Given the description of an element on the screen output the (x, y) to click on. 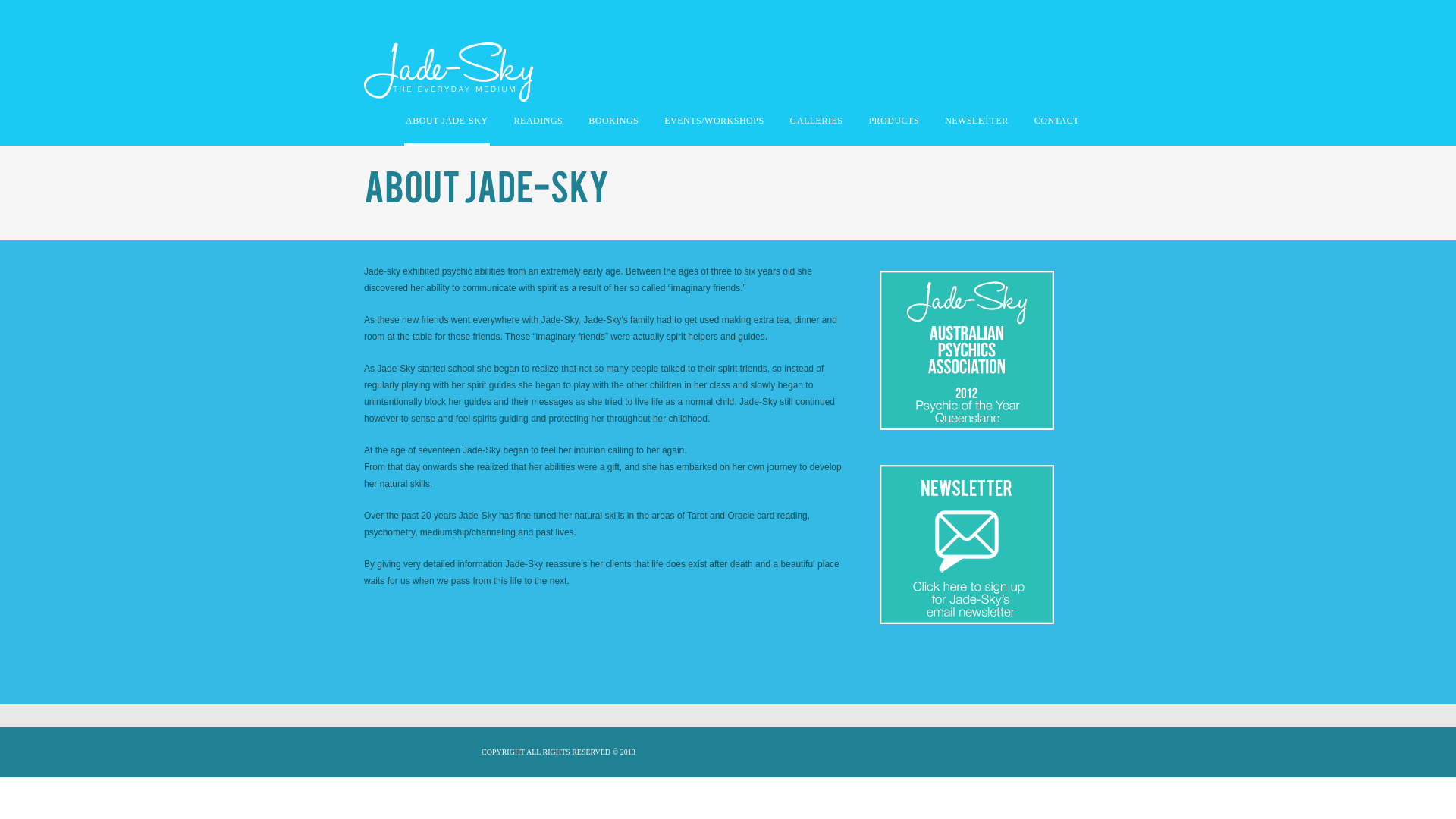
READINGS Element type: text (538, 124)
ABOUT JADE-SKY Element type: text (446, 124)
CONTACT Element type: text (1056, 124)
GALLERIES Element type: text (816, 124)
EVENTS/WORKSHOPS Element type: text (713, 124)
NEWSLETTER Element type: text (976, 124)
BOOKINGS Element type: text (613, 124)
PRODUCTS Element type: text (893, 124)
